Given the description of an element on the screen output the (x, y) to click on. 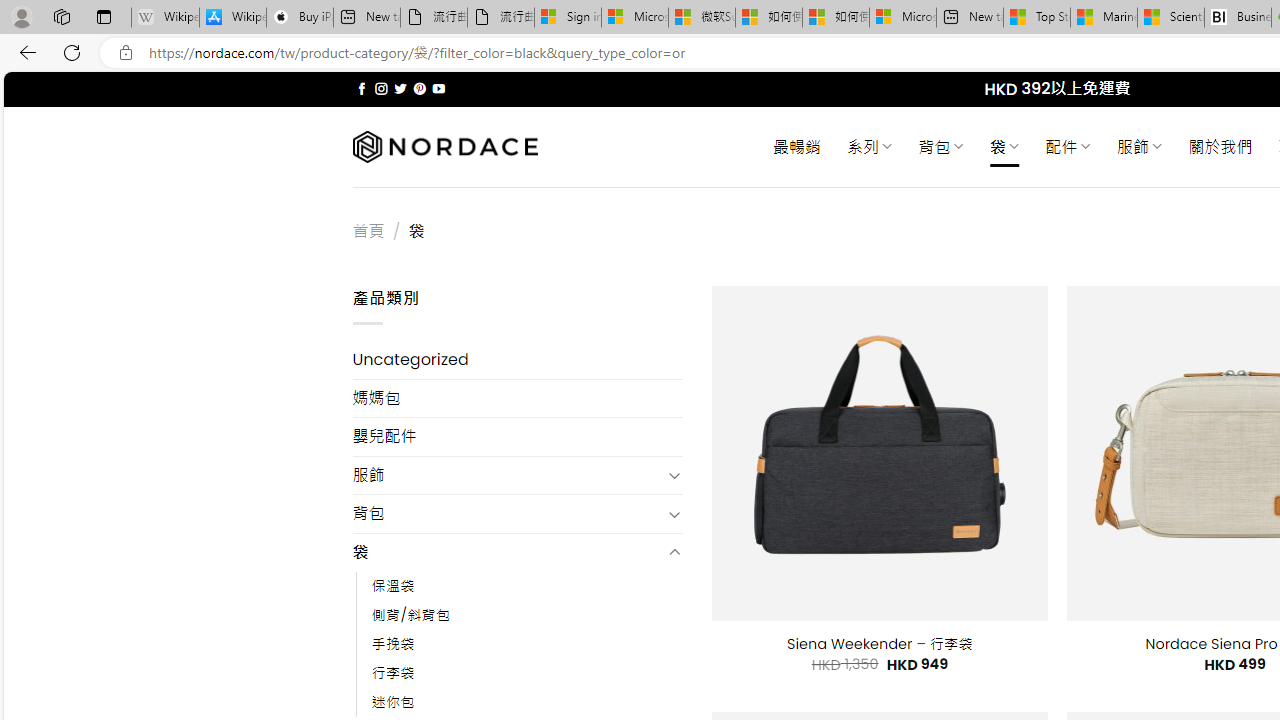
Uncategorized (517, 359)
